Given the description of an element on the screen output the (x, y) to click on. 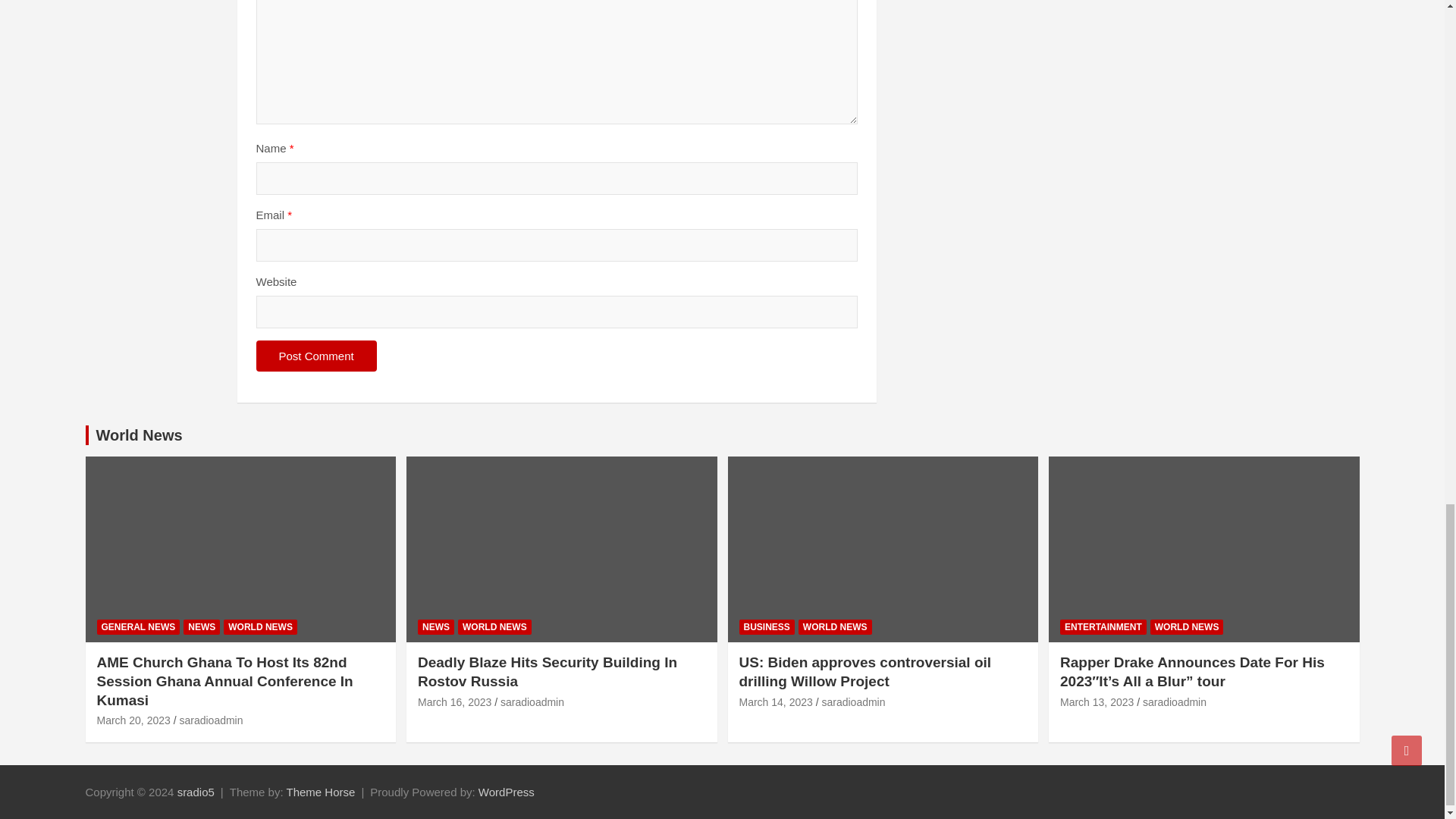
Post Comment (316, 355)
Post Comment (316, 355)
Theme Horse (320, 791)
WordPress (506, 791)
GENERAL NEWS (138, 627)
sradio5 (195, 791)
World News (139, 434)
NEWS (201, 627)
US: Biden approves controversial oil drilling Willow Project (775, 702)
Deadly Blaze Hits Security Building In Rostov Russia (454, 702)
